Given the description of an element on the screen output the (x, y) to click on. 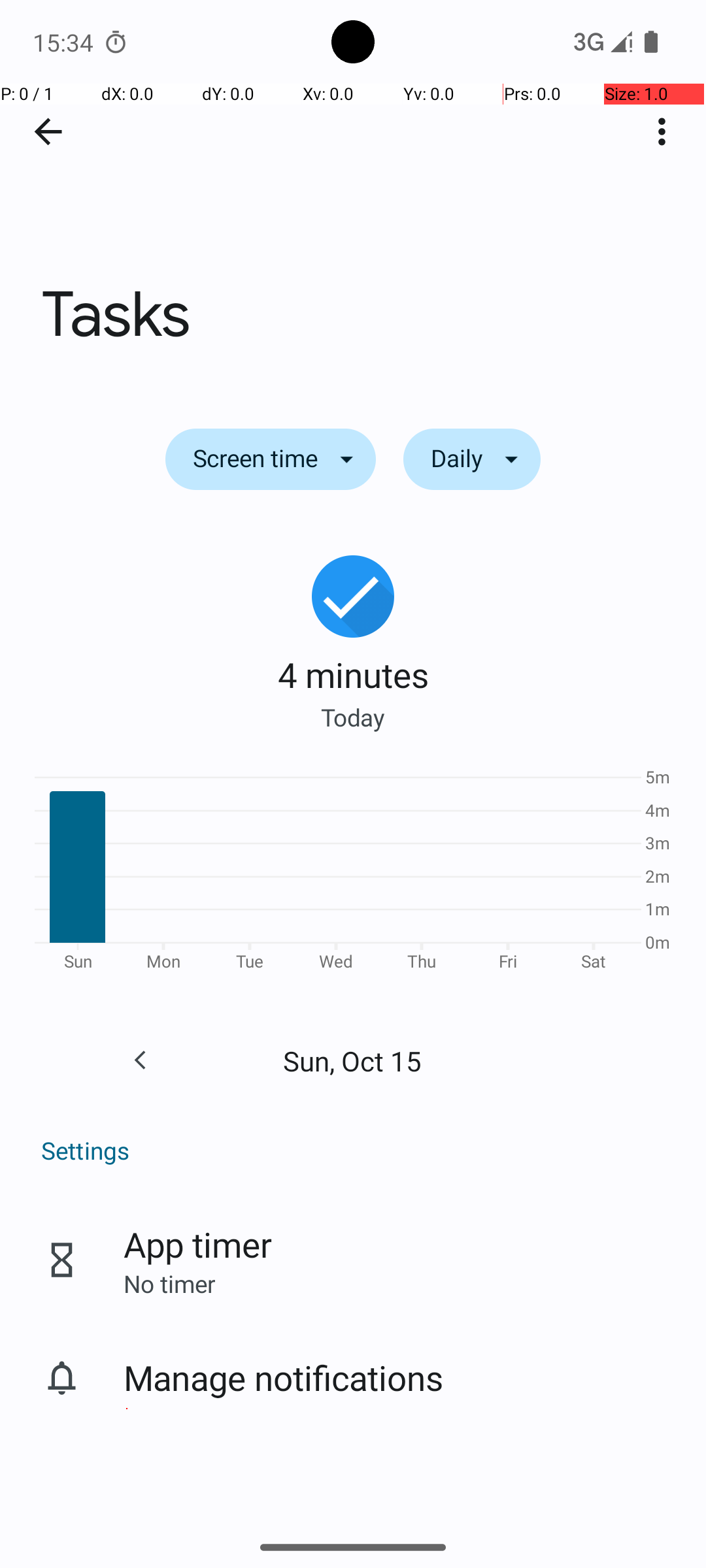
4 minutes Element type: android.widget.TextView (353, 674)
App timer Element type: android.widget.TextView (197, 1244)
No timer Element type: android.widget.TextView (169, 1283)
